Given the description of an element on the screen output the (x, y) to click on. 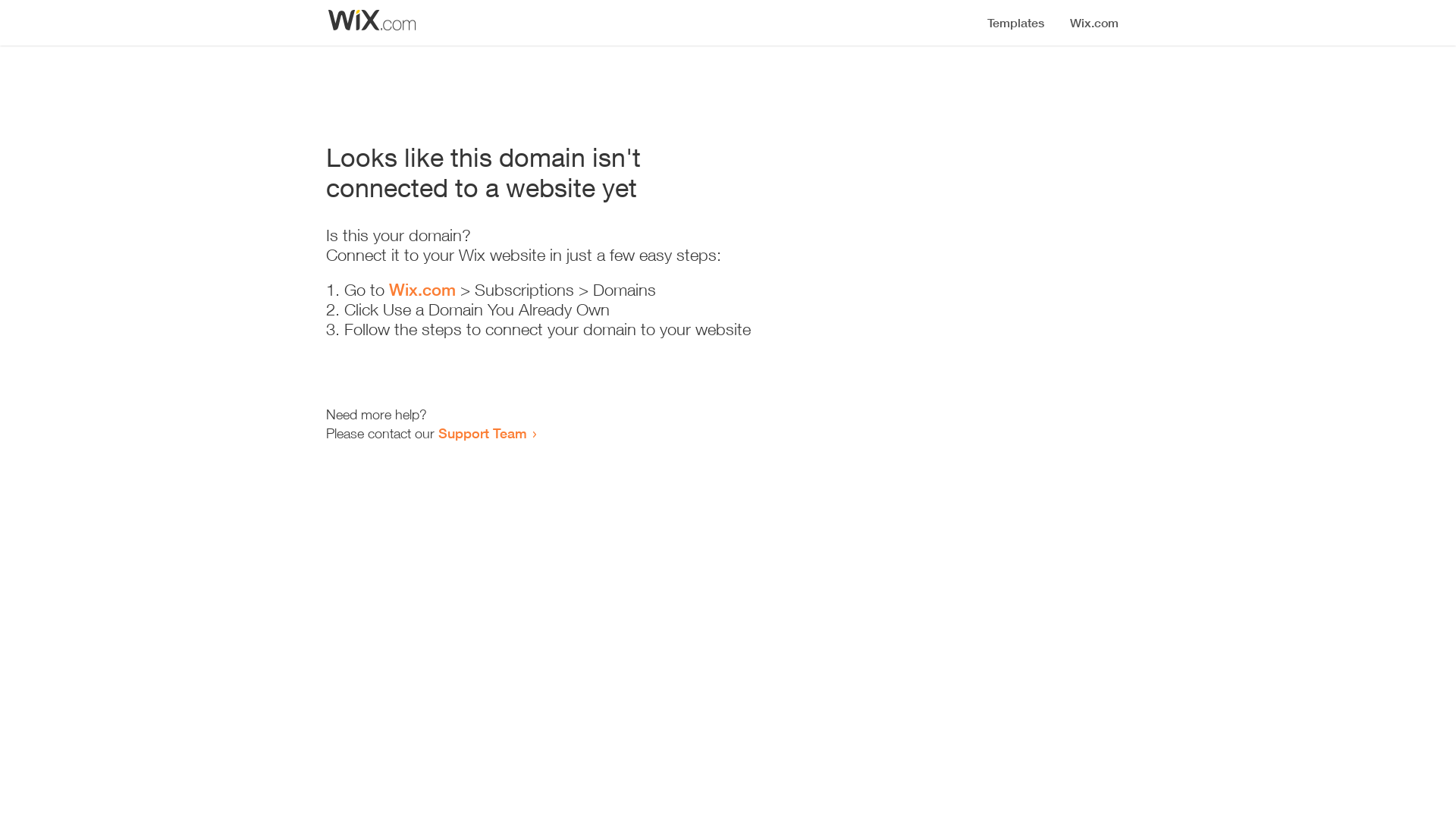
Support Team Element type: text (482, 432)
Wix.com Element type: text (422, 289)
